Given the description of an element on the screen output the (x, y) to click on. 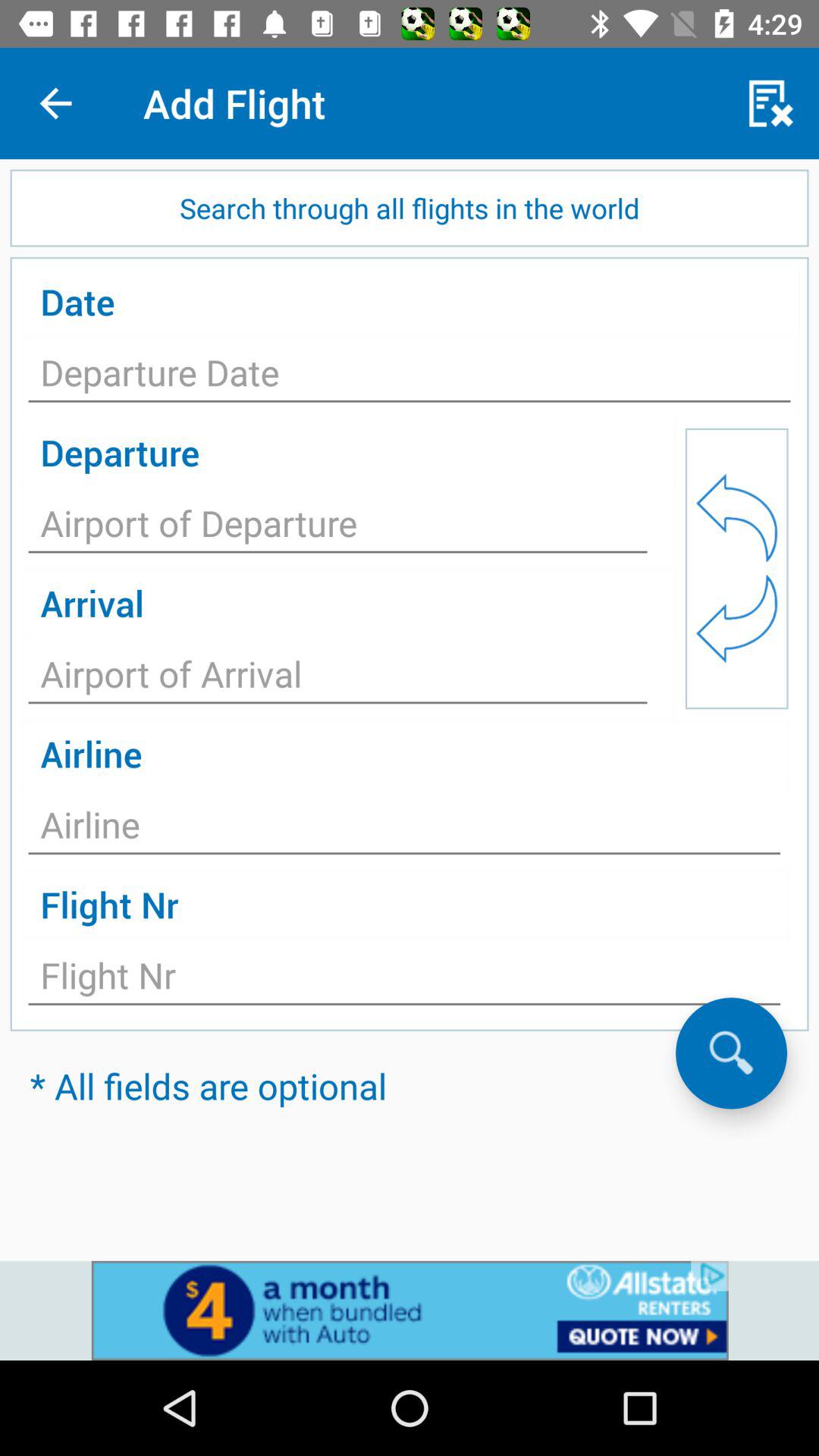
arrival time to given (337, 678)
